Given the description of an element on the screen output the (x, y) to click on. 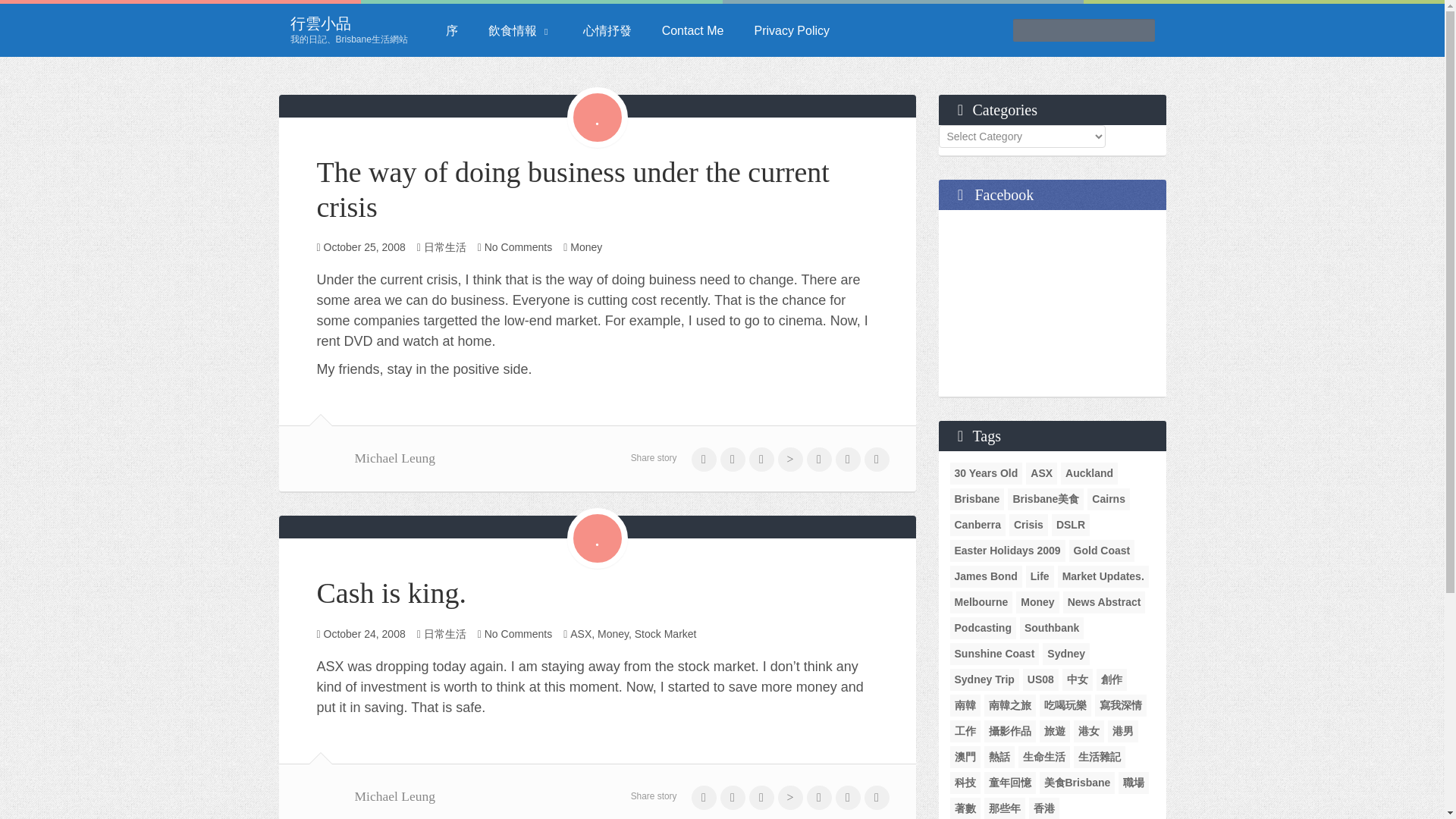
Money (612, 633)
Privacy Policy (791, 29)
Michael Leung (395, 795)
No Comments (517, 246)
No Comments (517, 633)
ASX (580, 633)
Stock Market (665, 633)
Money (586, 246)
Cash is king. (391, 593)
Michael Leung (395, 458)
